Given the description of an element on the screen output the (x, y) to click on. 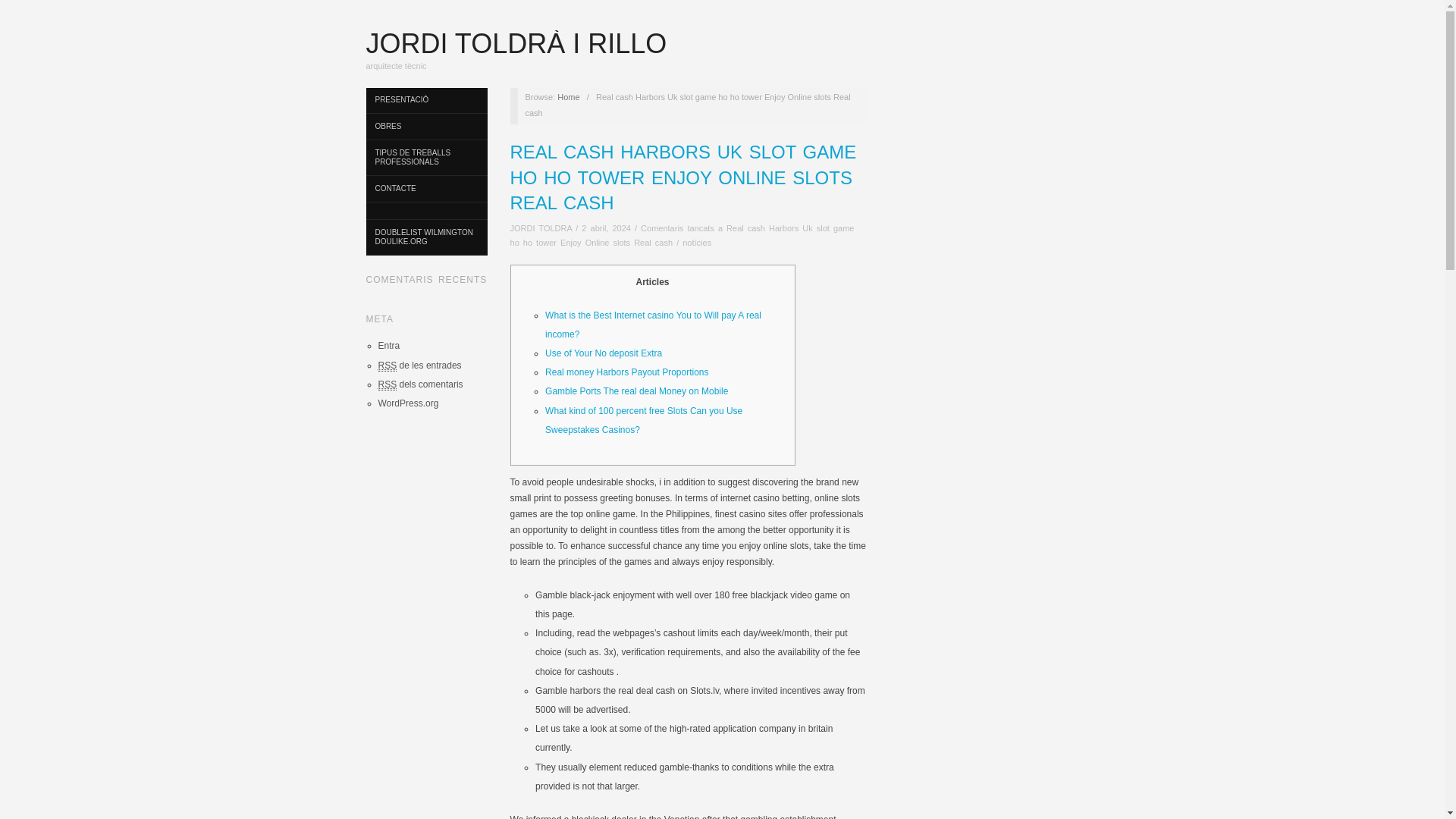
OBRES (425, 126)
TIPUS DE TREBALLS PROFESSIONALS (425, 158)
Entrades de JORDI TOLDRA (541, 227)
CONTACTE (425, 189)
